Given the description of an element on the screen output the (x, y) to click on. 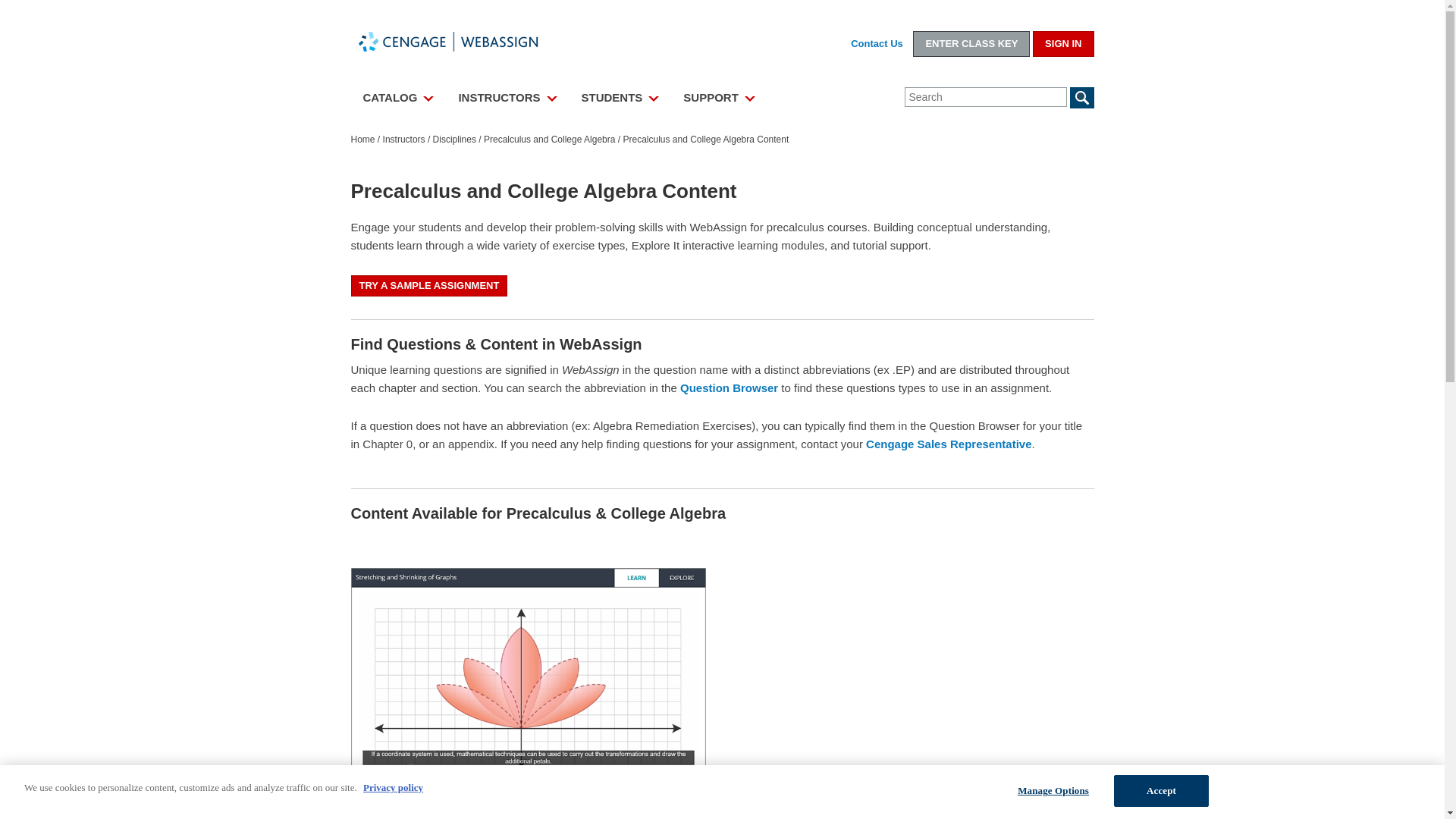
Precalculus and College Algebra (548, 139)
WebAssign (464, 41)
Instructors (403, 139)
Question Browser (728, 387)
STUDENTS (620, 101)
SIGN IN (1062, 43)
CATALOG (397, 101)
TRY A SAMPLE ASSIGNMENT (428, 285)
ENTER CLASS KEY (970, 43)
SUPPORT (719, 101)
INSTRUCTORS (507, 101)
Home (362, 139)
Contact Us (876, 43)
Cengage Sales Representative (948, 443)
Disciplines (454, 139)
